Given the description of an element on the screen output the (x, y) to click on. 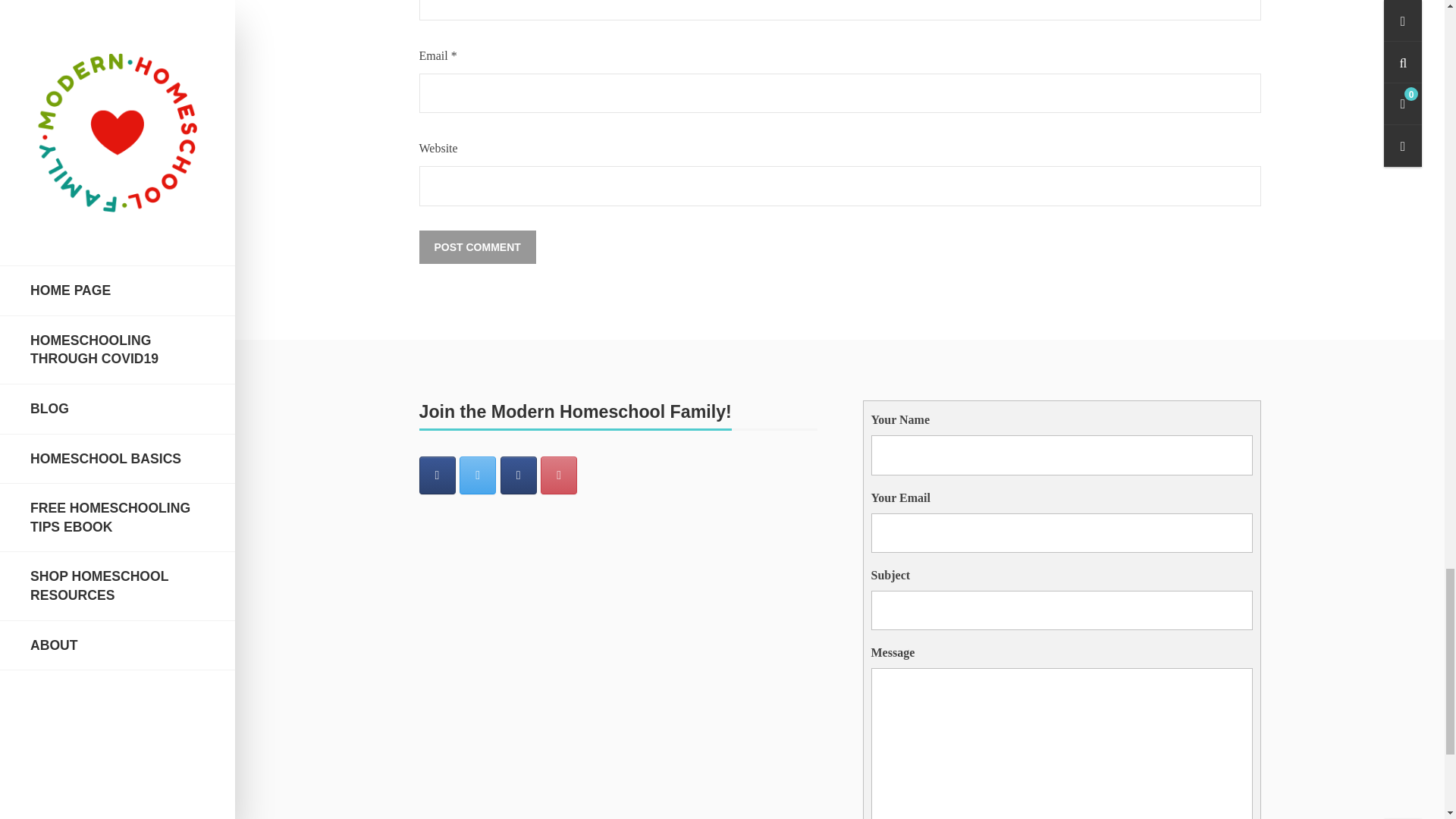
Homeschool Tweets (478, 475)
Join the Facebook Group (518, 475)
Post Comment (477, 247)
Post Comment (477, 247)
Get Inspired on Pinterest (558, 475)
Follow Us on Facebook (436, 475)
